Given the description of an element on the screen output the (x, y) to click on. 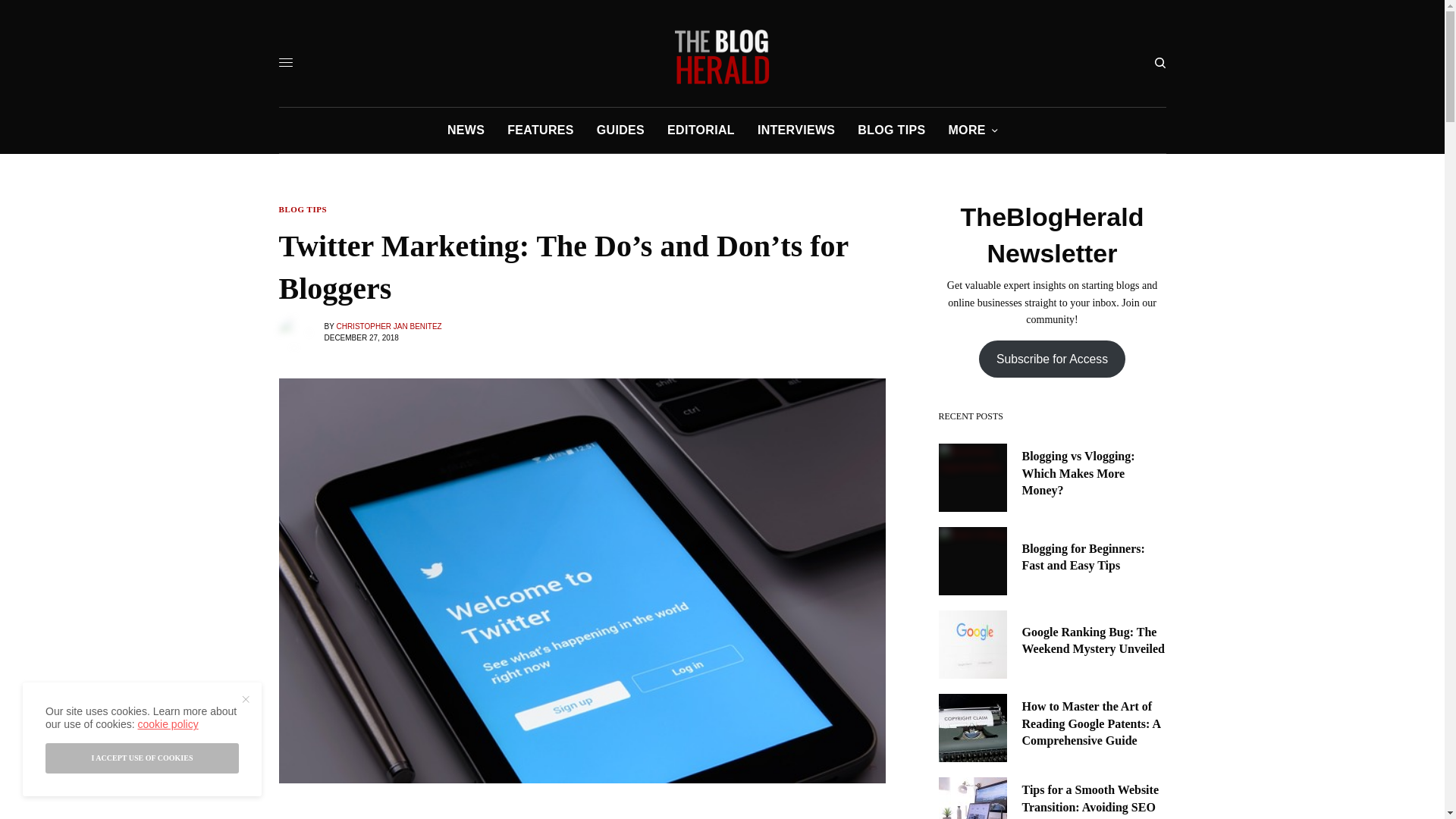
Blogging vs Vlogging: Which Makes More Money? (1094, 472)
The Blog Herald (722, 56)
GUIDES (620, 130)
BLOG TIPS (303, 209)
FEATURES (539, 130)
BLOG TIPS (890, 130)
INTERVIEWS (795, 130)
Posts by Christopher Jan Benitez (388, 326)
CHRISTOPHER JAN BENITEZ (388, 326)
MORE (972, 130)
Google Ranking Bug: The Weekend Mystery Unveiled (1094, 641)
EDITORIAL (700, 130)
Tips for a Smooth Website Transition: Avoiding SEO Issues (1094, 800)
Blogging for Beginners: Fast and Easy Tips (1094, 557)
